Given the description of an element on the screen output the (x, y) to click on. 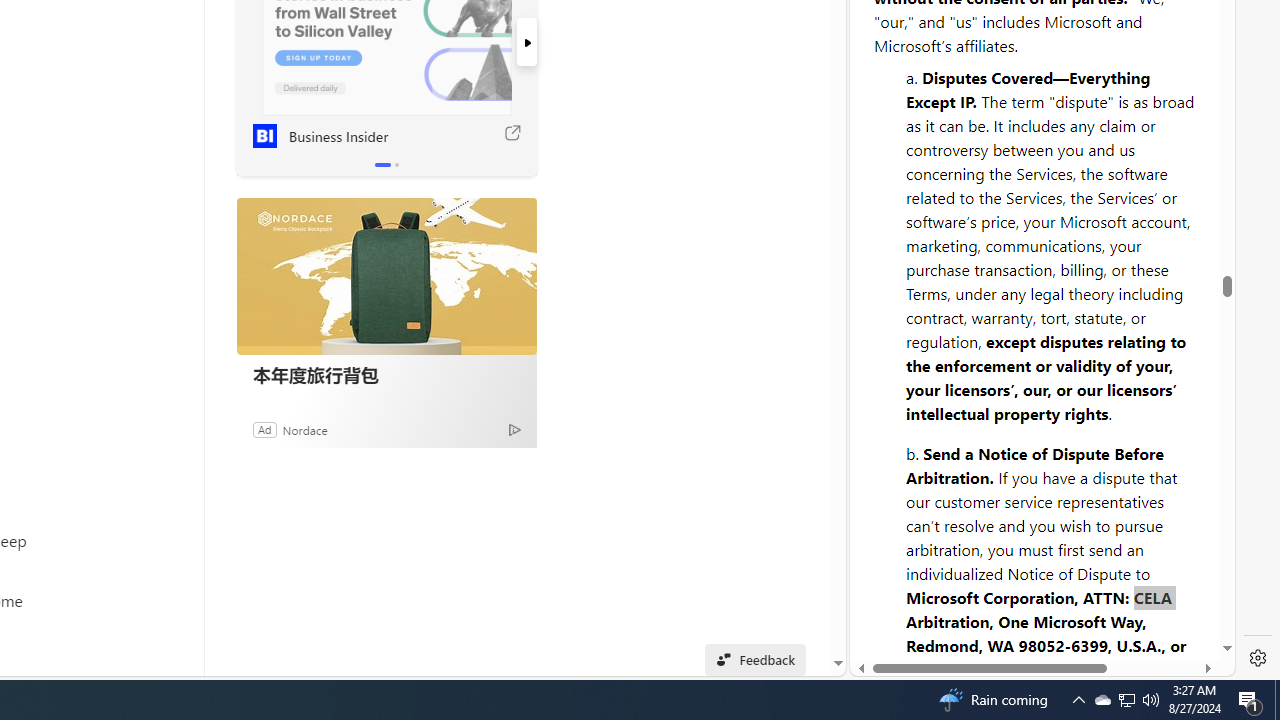
Business Insider (264, 135)
next (526, 42)
